Given the description of an element on the screen output the (x, y) to click on. 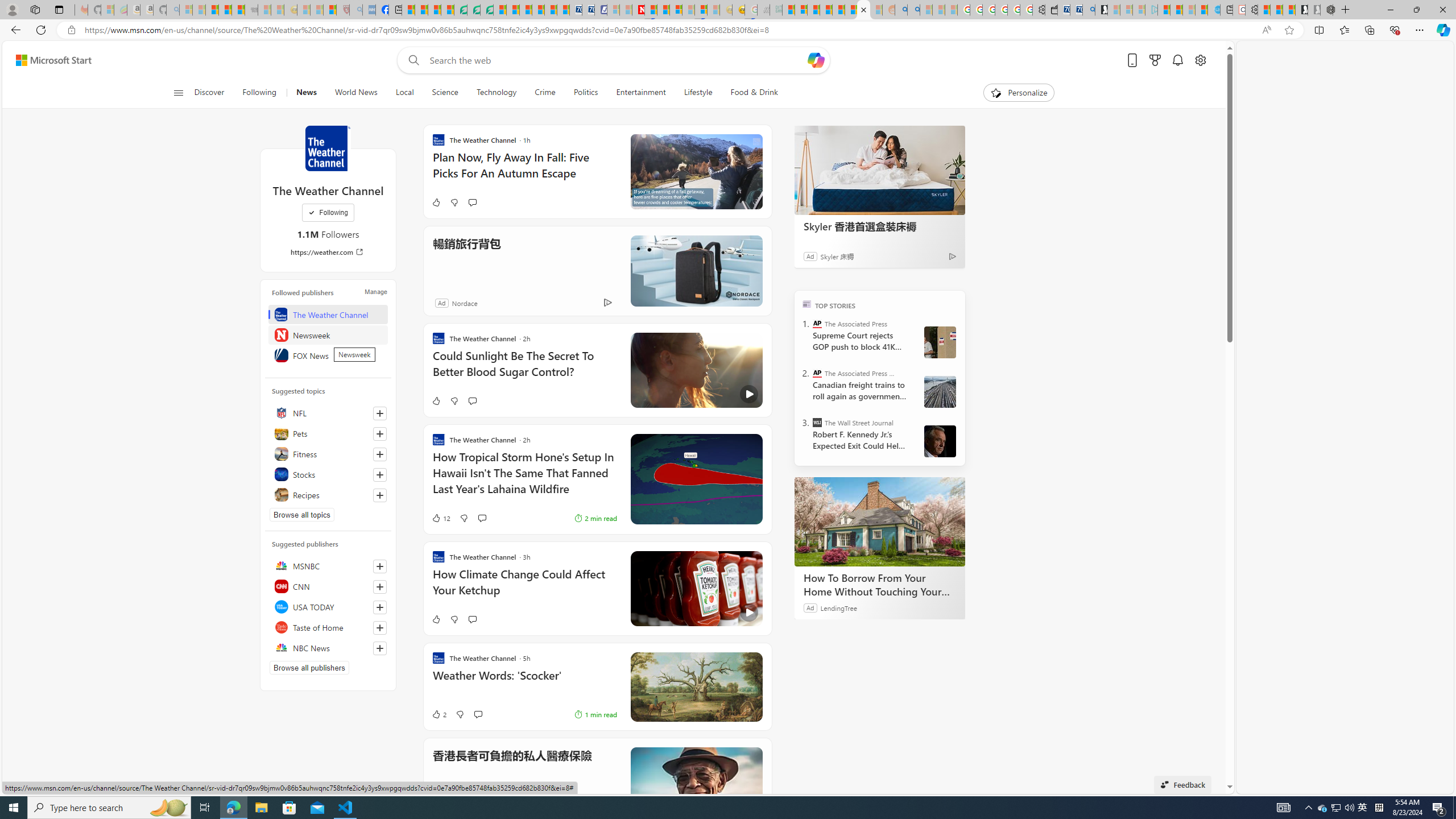
Newsweek (327, 334)
The Associated Press - Business News (816, 372)
